Given the description of an element on the screen output the (x, y) to click on. 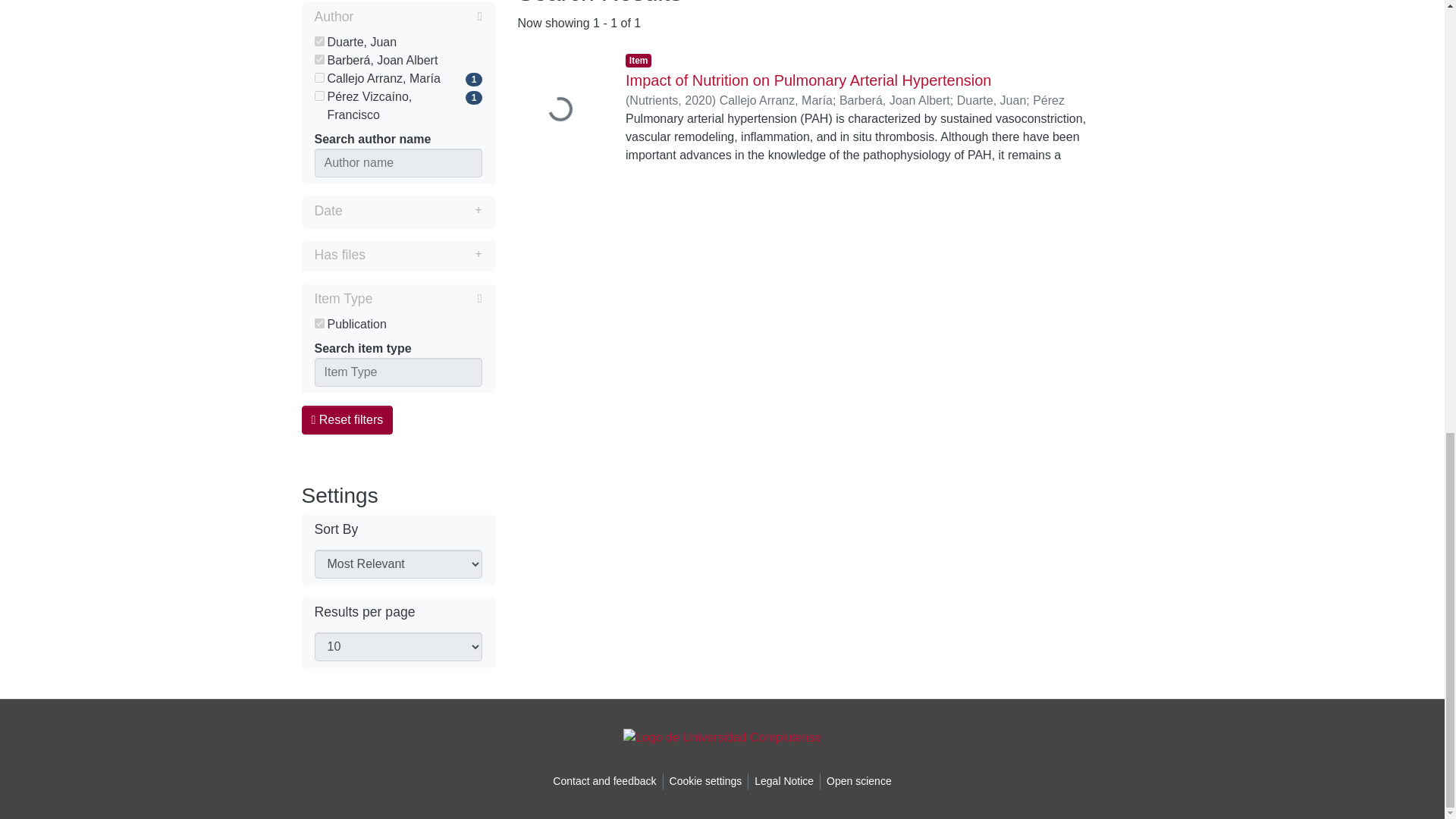
Collapse filter (417, 16)
Duarte, Juan (397, 42)
Collapse filter (426, 298)
Expand filter (411, 210)
Author (397, 18)
on (318, 77)
on (318, 95)
on (318, 59)
on (318, 40)
on (318, 323)
Expand filter (423, 254)
